Given the description of an element on the screen output the (x, y) to click on. 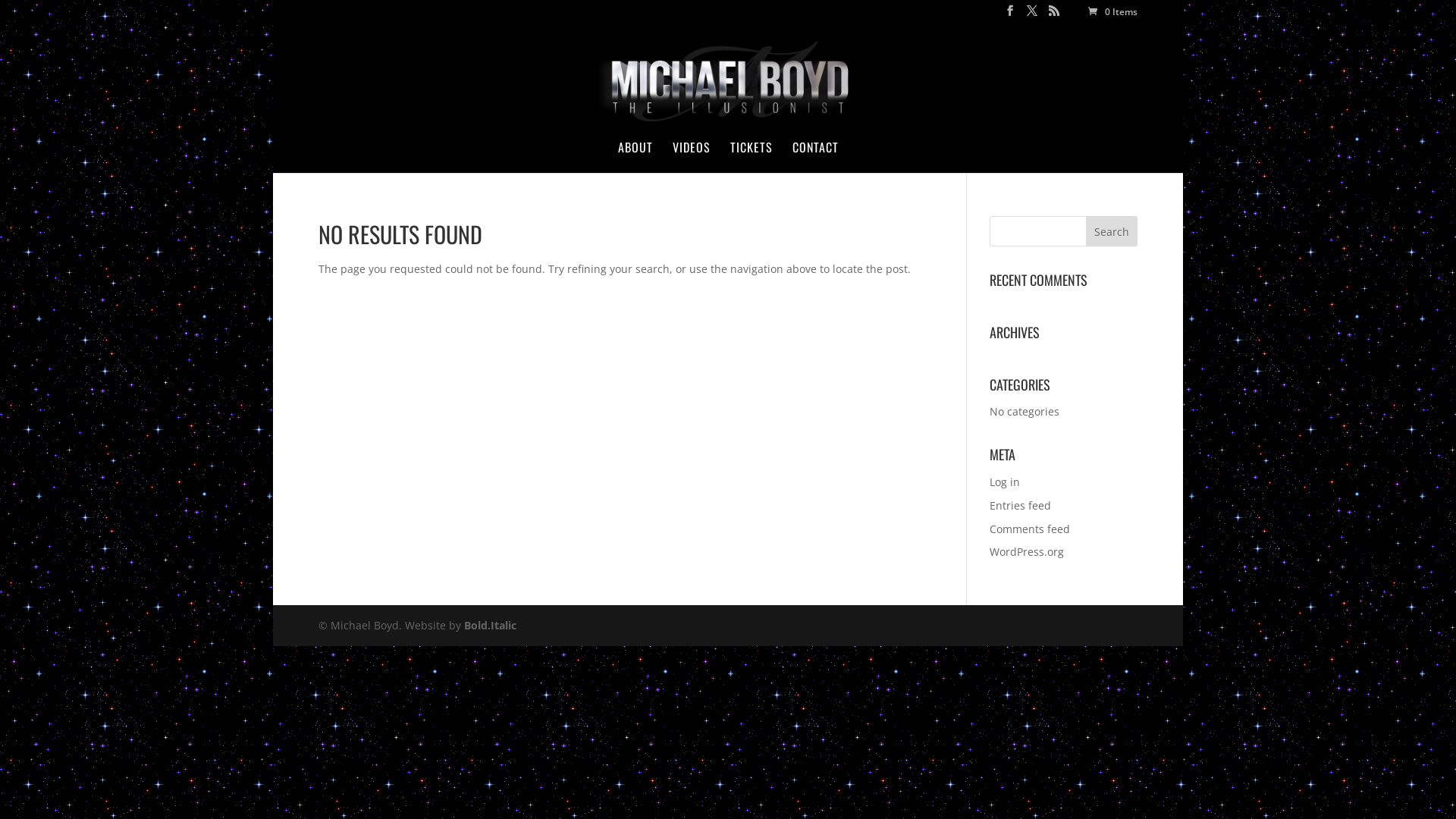
Log in Element type: text (1004, 481)
WordPress.org Element type: text (1026, 551)
Entries feed Element type: text (1020, 505)
ABOUT Element type: text (634, 156)
Search Element type: text (1111, 231)
VIDEOS Element type: text (690, 156)
TICKETS Element type: text (750, 156)
0 Items Element type: text (1111, 11)
Bold.Italic Element type: text (490, 625)
CONTACT Element type: text (814, 156)
Comments feed Element type: text (1029, 528)
